Given the description of an element on the screen output the (x, y) to click on. 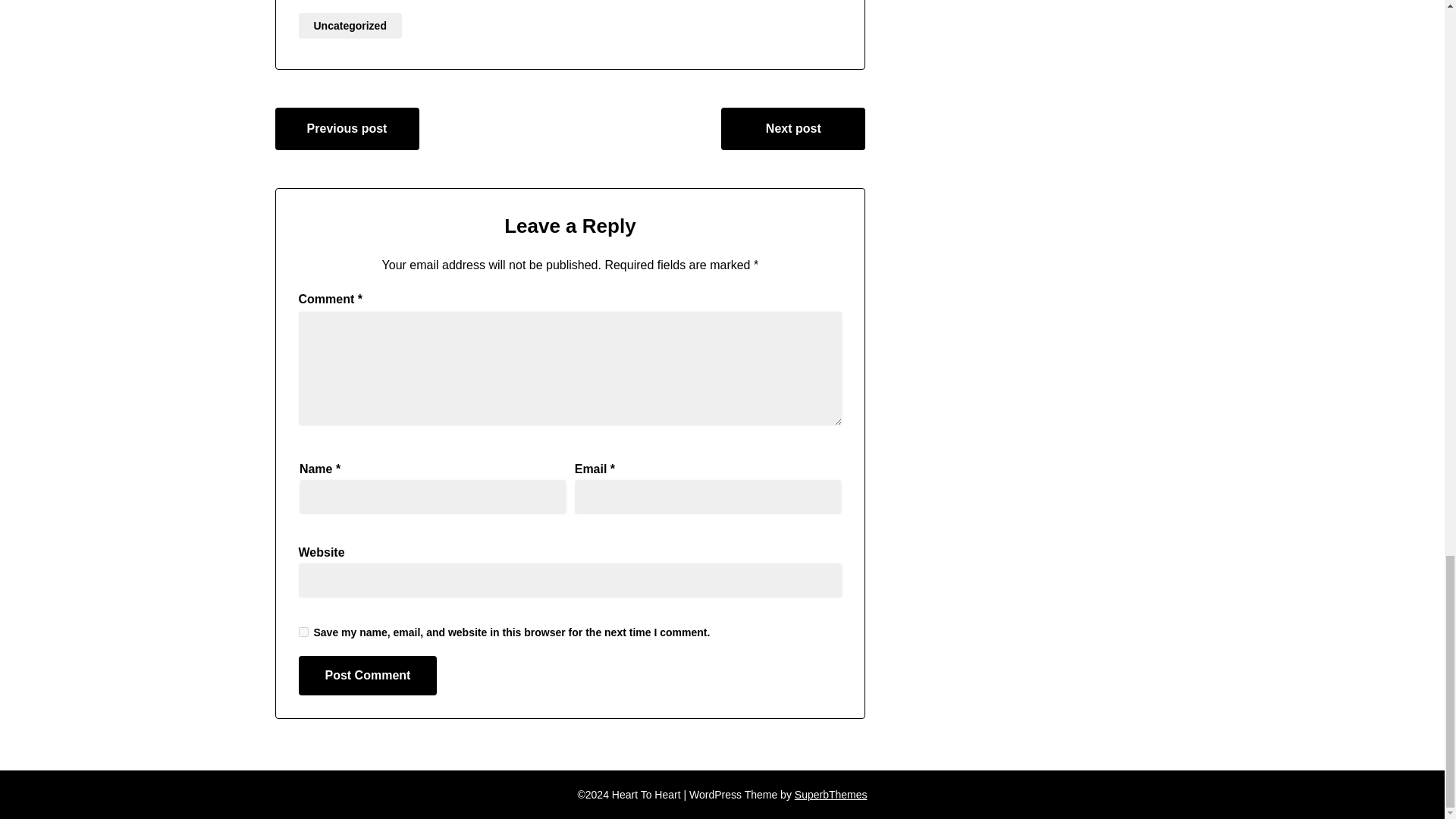
Next post (792, 128)
Uncategorized (349, 25)
Post Comment (368, 675)
yes (303, 632)
Previous post (347, 128)
Post Comment (368, 675)
